Given the description of an element on the screen output the (x, y) to click on. 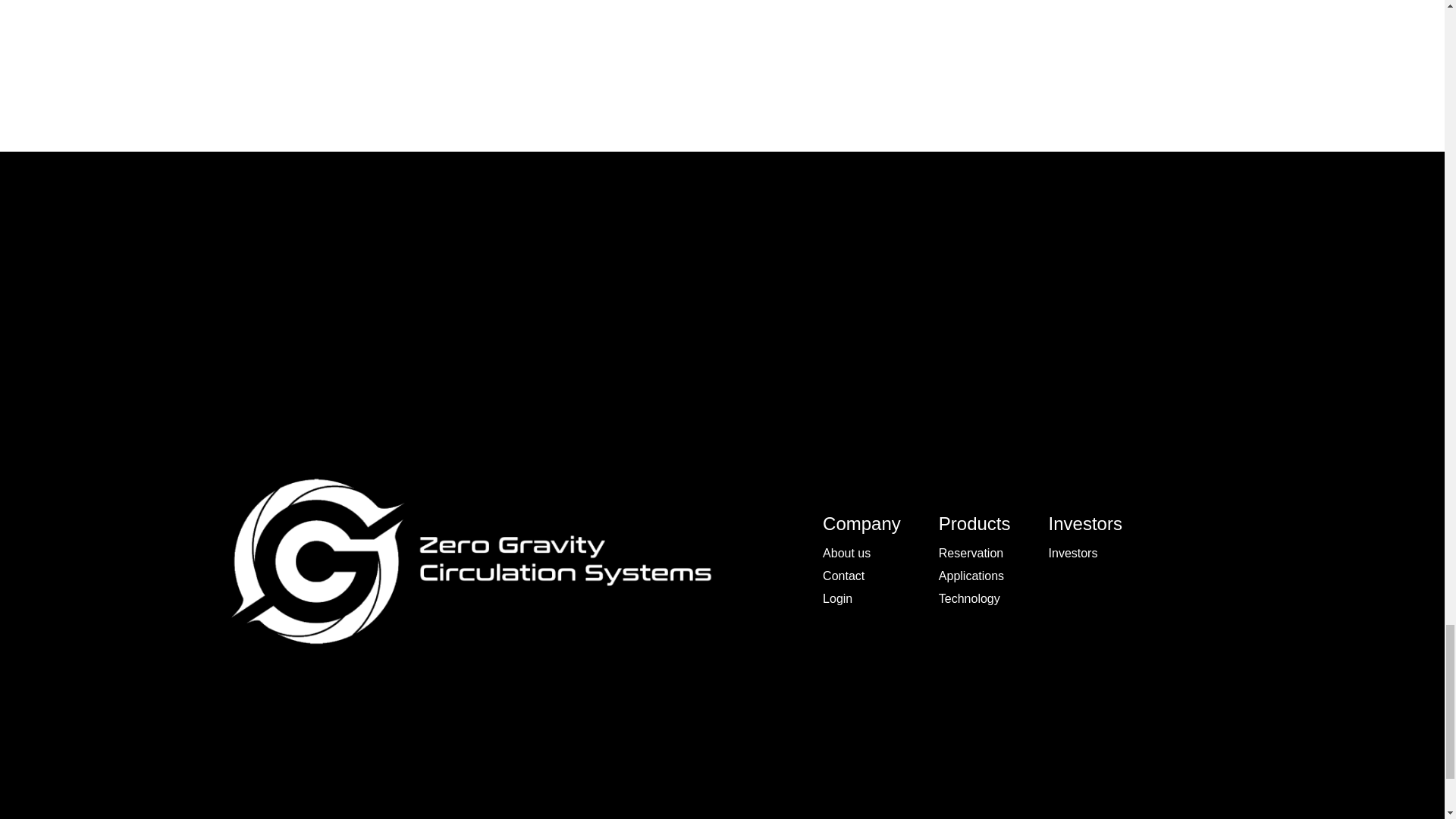
Contact (843, 574)
Login (836, 597)
Technology (969, 597)
Investors (1072, 552)
About us (846, 552)
Applications (971, 574)
Reservation (971, 552)
